Given the description of an element on the screen output the (x, y) to click on. 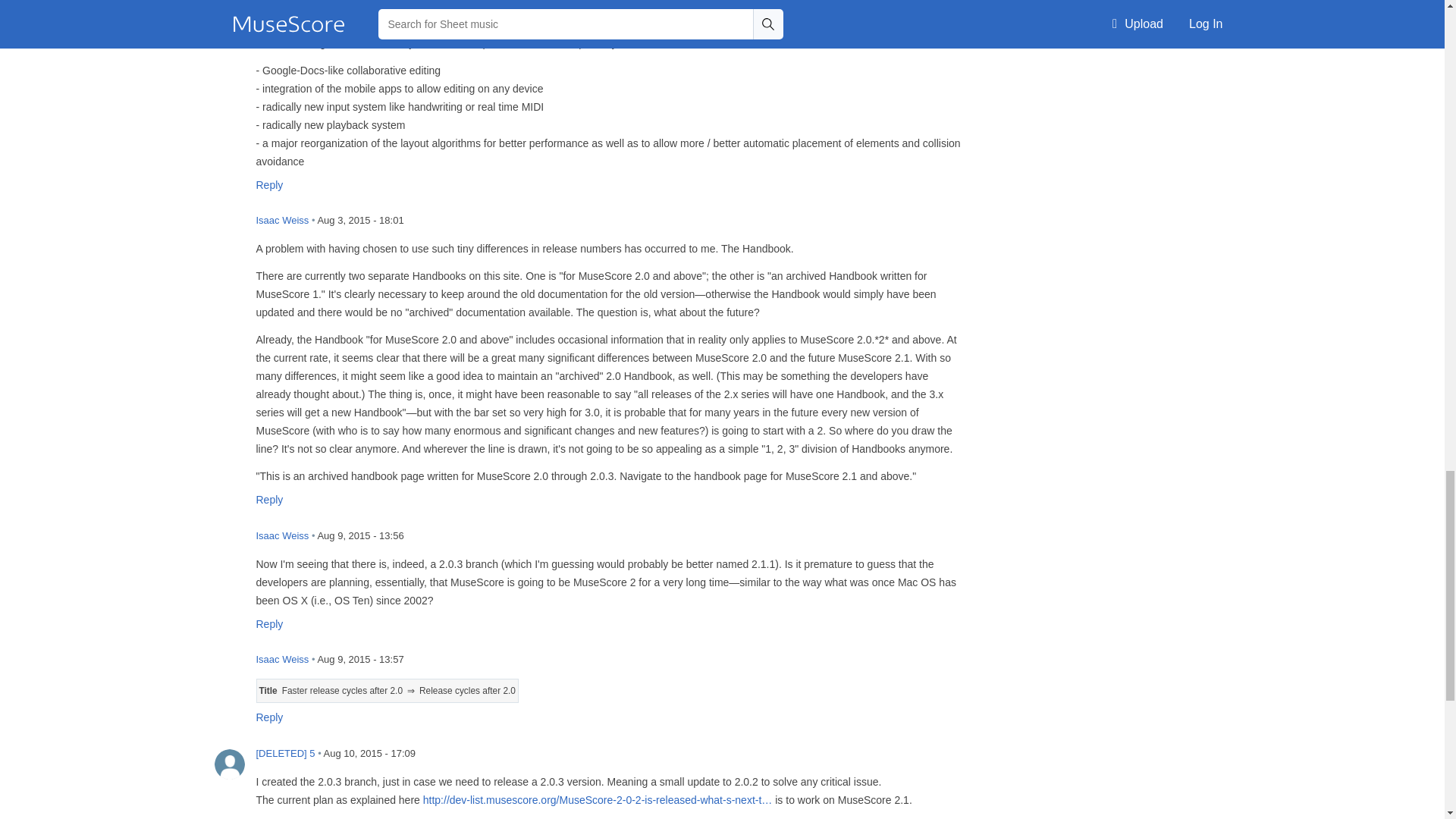
Isaac Weiss (229, 232)
Isaac Weiss (229, 670)
Isaac Weiss (229, 546)
